Given the description of an element on the screen output the (x, y) to click on. 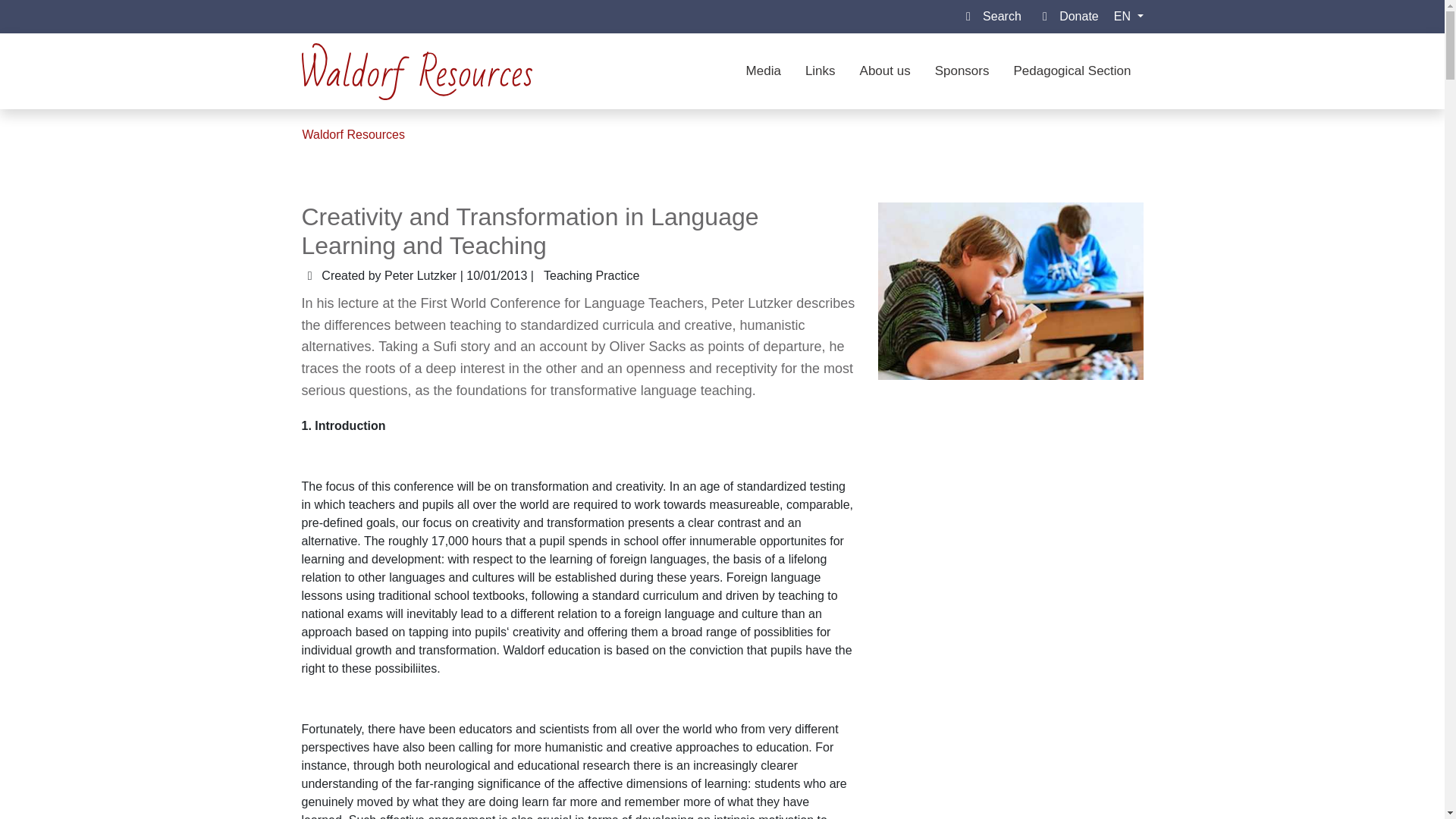
Donate (1074, 16)
Pedagogical Section (1071, 71)
Pedagogical Section (1071, 71)
Search (997, 16)
About us (885, 71)
Sponsors (962, 71)
Waldorf Resources (352, 133)
Links (820, 71)
Media (763, 71)
Picture: Charlotte Fischer (1009, 291)
